Given the description of an element on the screen output the (x, y) to click on. 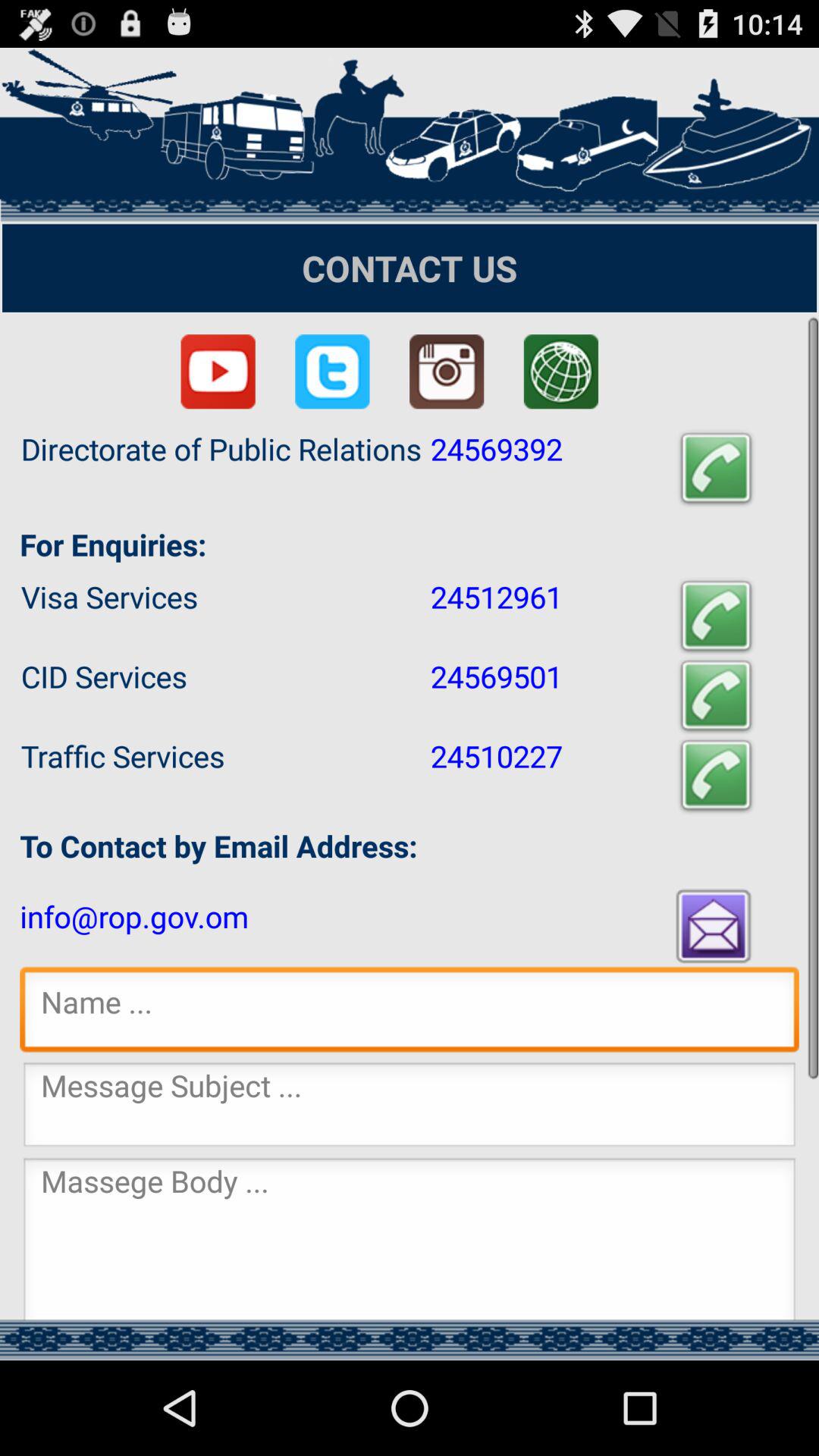
enter message subject (409, 1108)
